Given the description of an element on the screen output the (x, y) to click on. 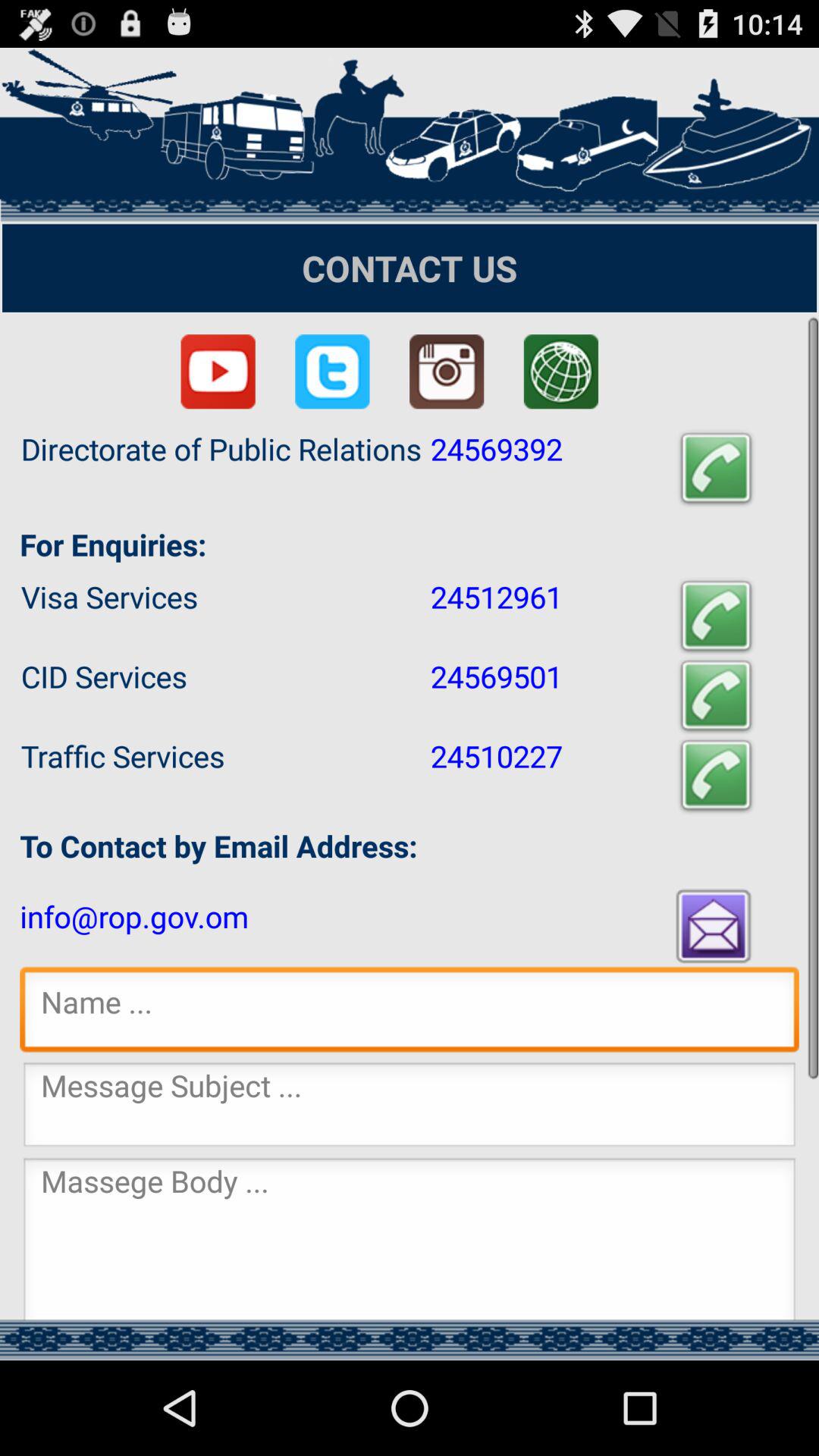
enter message subject (409, 1108)
